Given the description of an element on the screen output the (x, y) to click on. 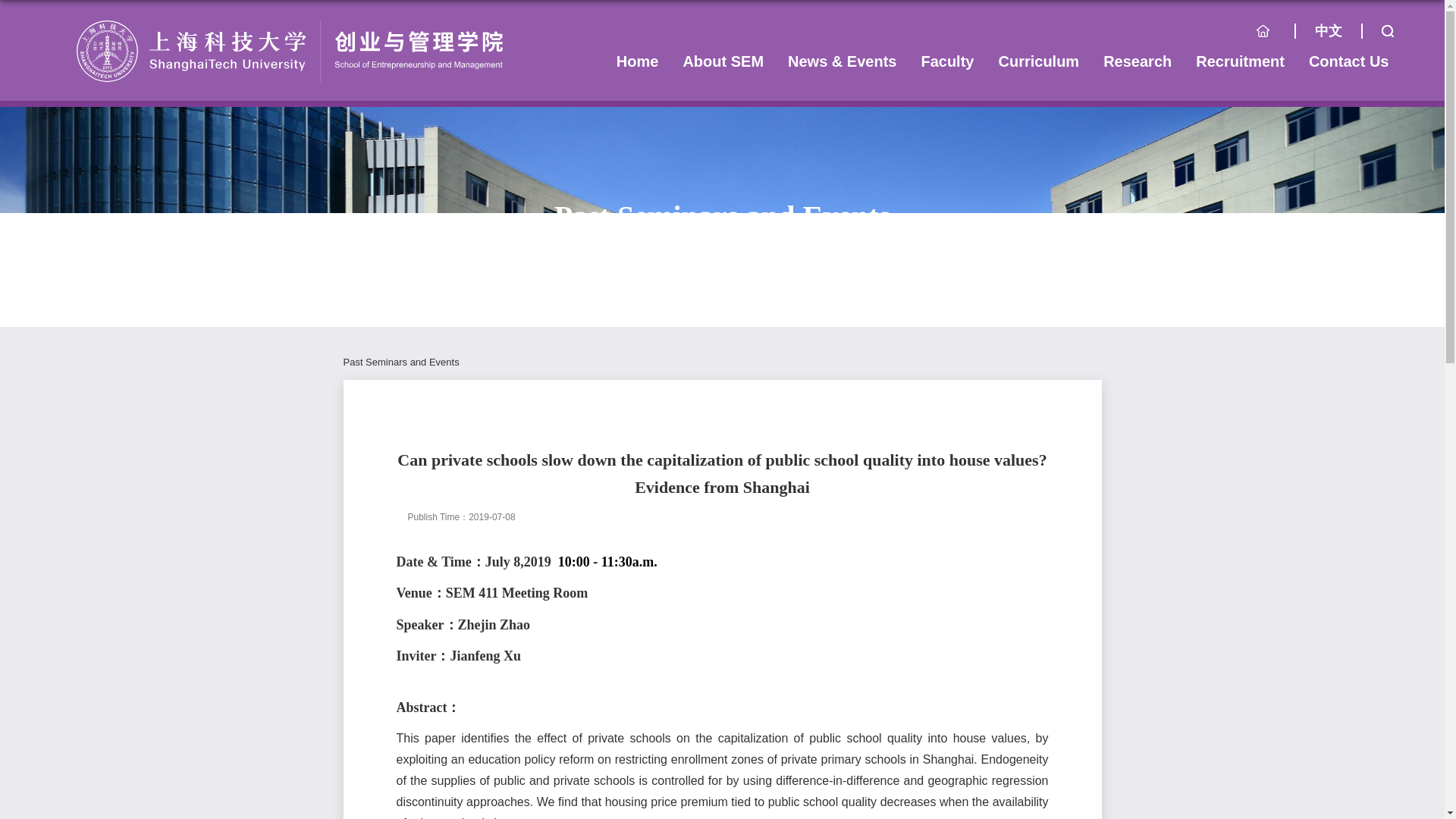
Curriculum (1037, 60)
Home (1274, 34)
About SEM (722, 60)
Home (637, 60)
Faculty (946, 60)
